Given the description of an element on the screen output the (x, y) to click on. 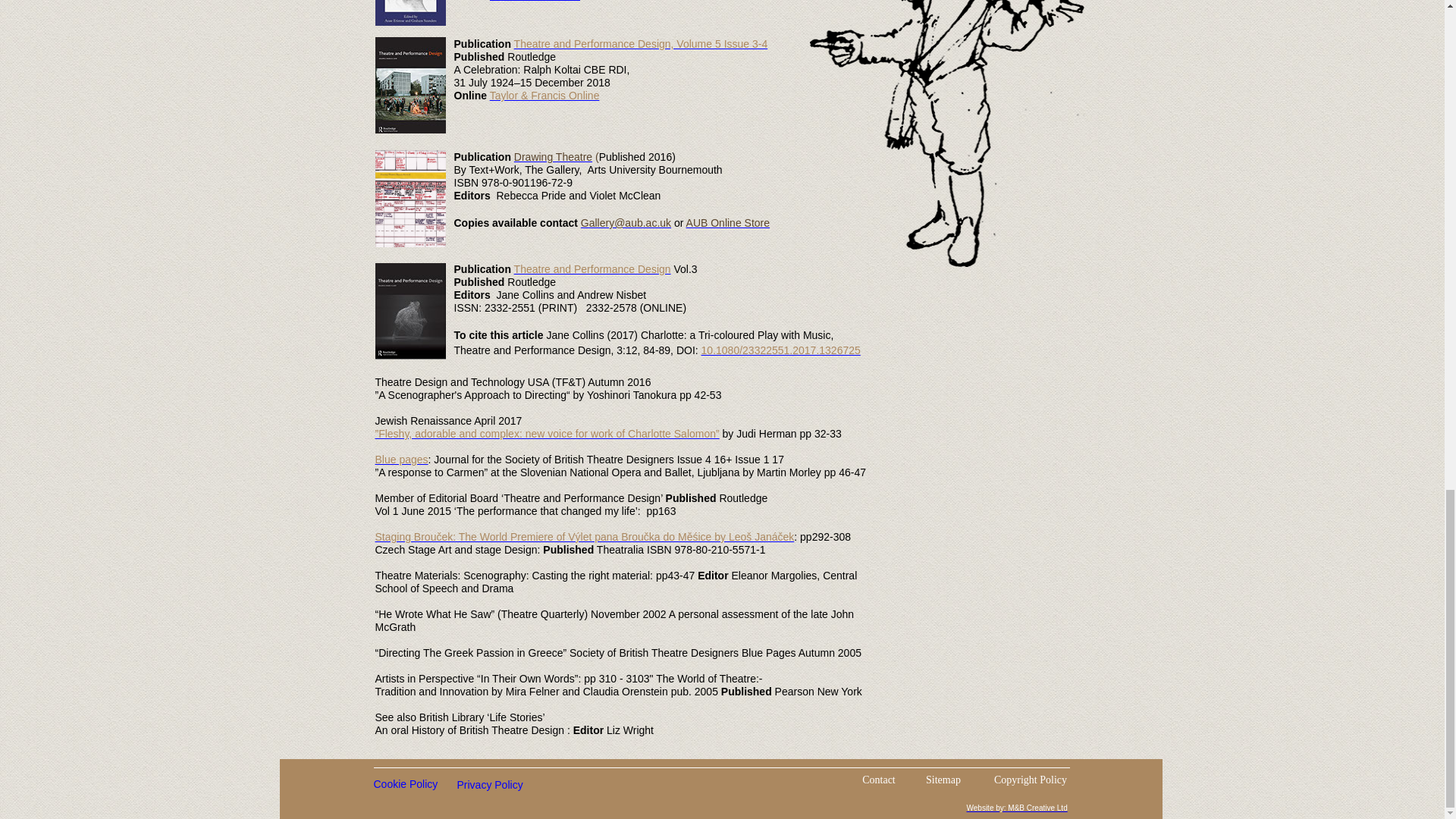
Cookie Policy  (416, 787)
Privacy Policy  (500, 787)
